Given the description of an element on the screen output the (x, y) to click on. 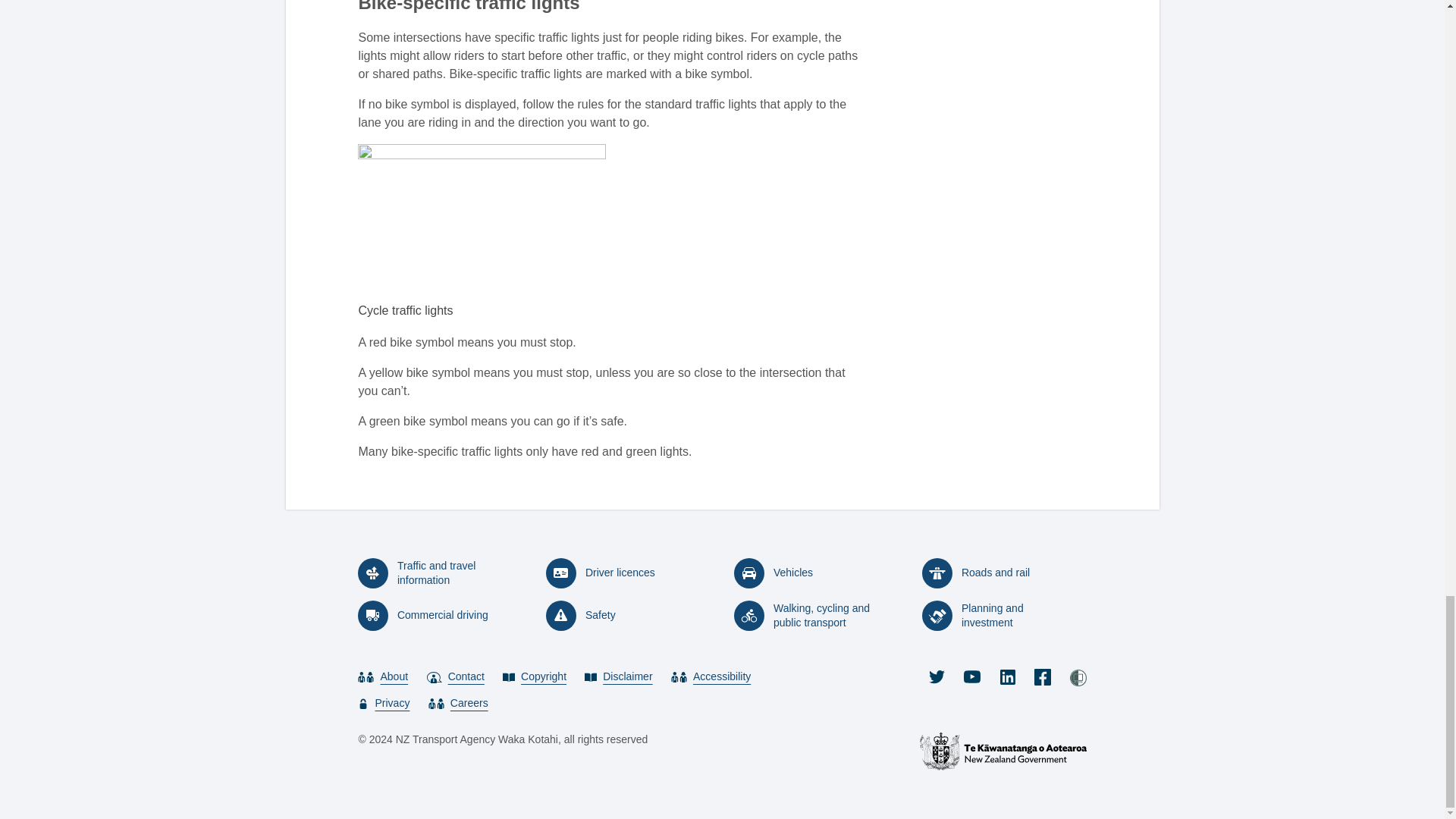
Cycle lights all (481, 219)
